Given the description of an element on the screen output the (x, y) to click on. 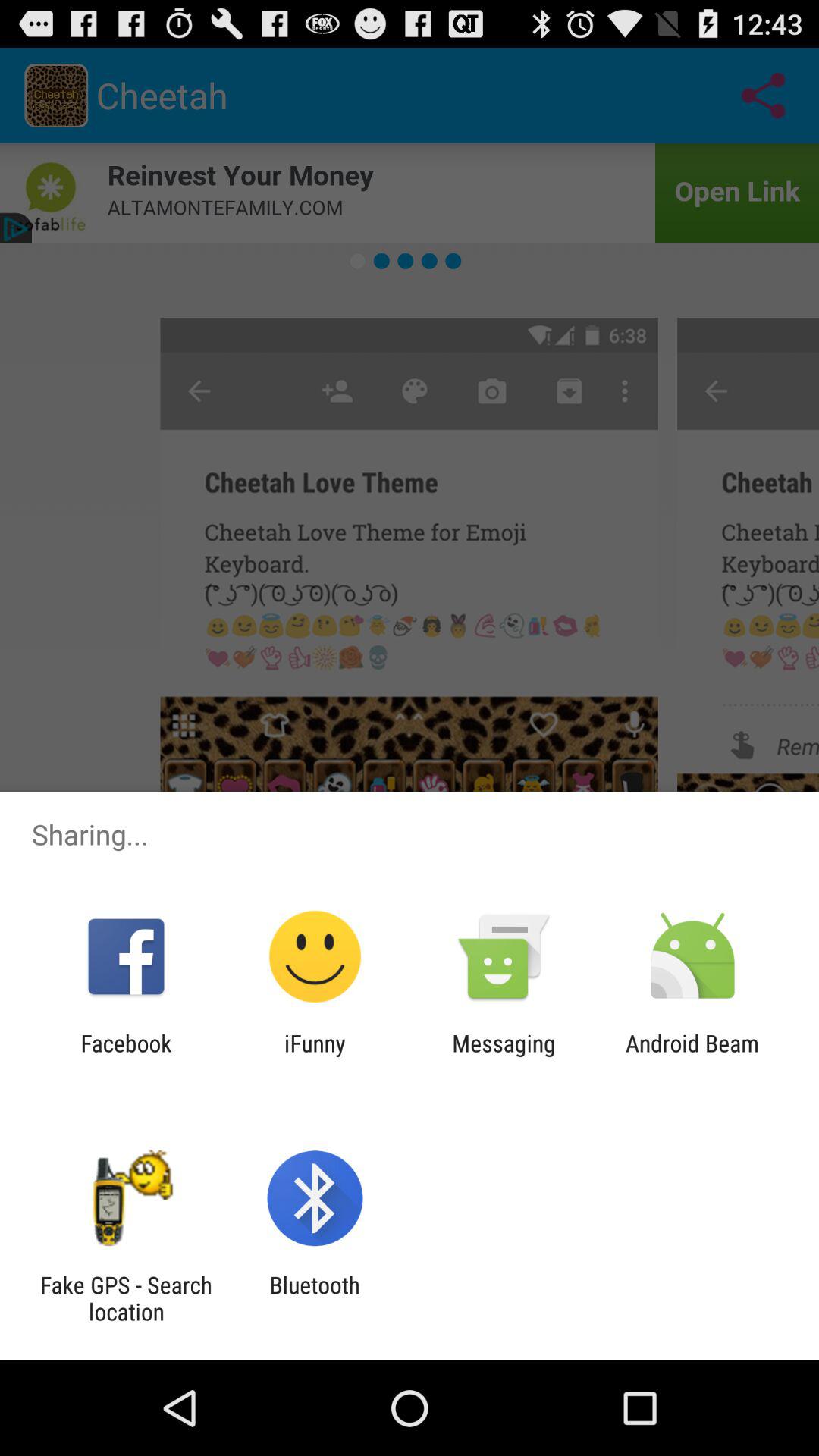
scroll until ifunny item (314, 1056)
